Given the description of an element on the screen output the (x, y) to click on. 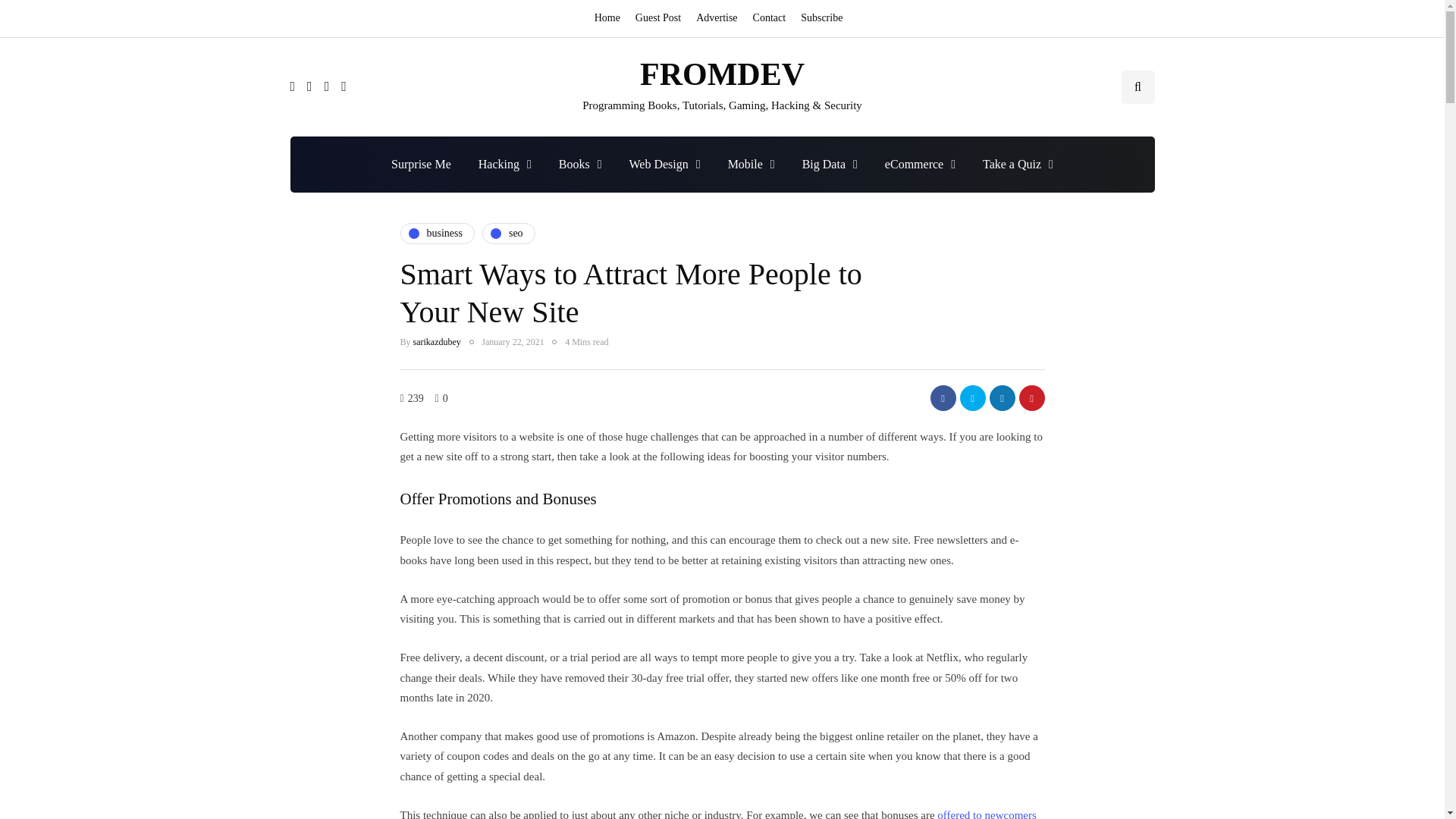
Web Design (664, 163)
FROMDEV (722, 73)
Books (579, 163)
Advertise (716, 18)
Subscribe (821, 18)
Surprise Me (420, 163)
Big Data (829, 163)
Mobile (751, 163)
Home (610, 18)
Hacking (504, 163)
Contact (769, 18)
Guest Post (657, 18)
